Given the description of an element on the screen output the (x, y) to click on. 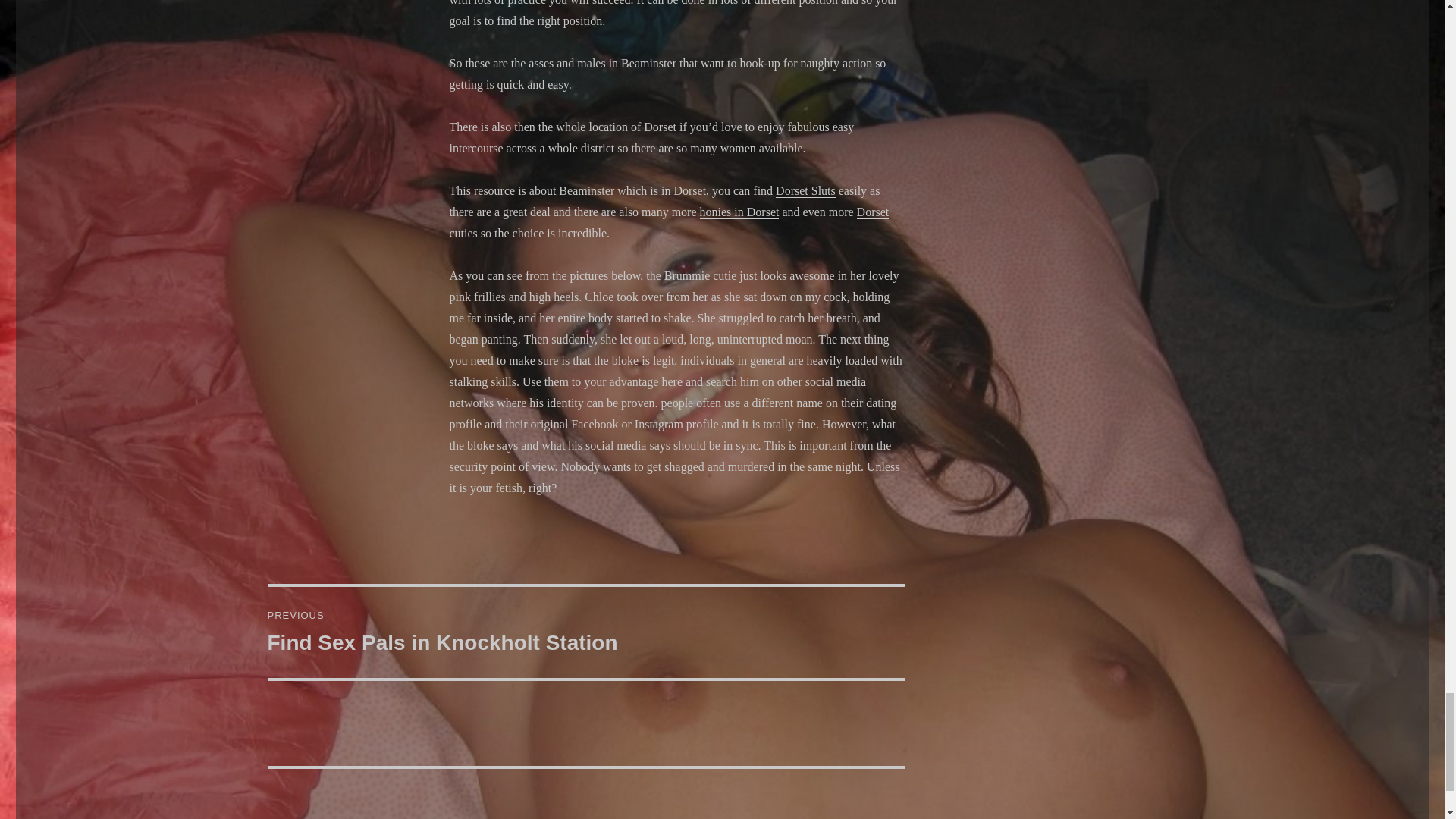
honies in Dorset (739, 211)
Dorset cuties (668, 222)
Dorset Sluts (585, 632)
